Given the description of an element on the screen output the (x, y) to click on. 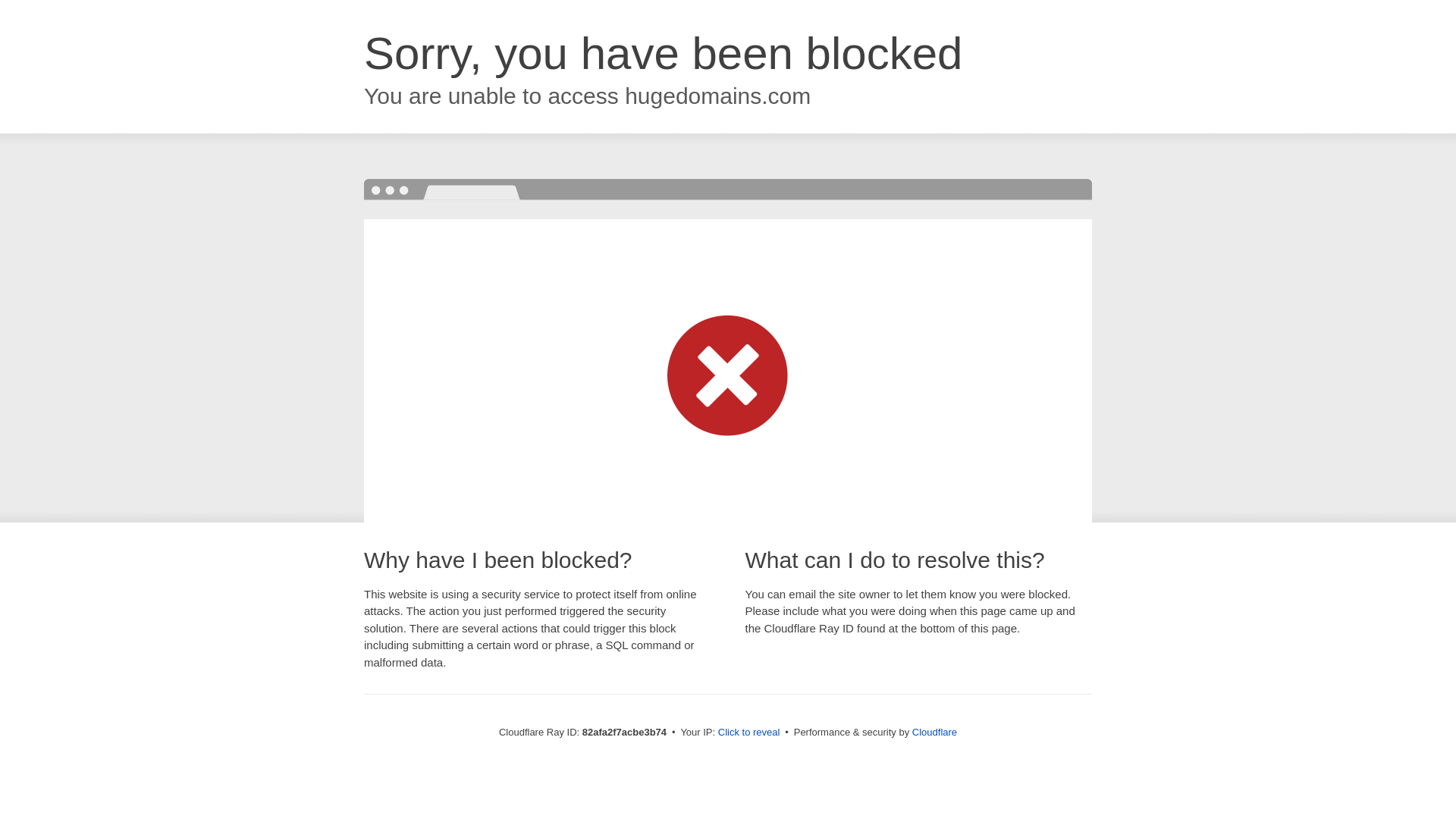
Click to reveal Element type: text (749, 732)
Cloudflare Element type: text (934, 731)
